Given the description of an element on the screen output the (x, y) to click on. 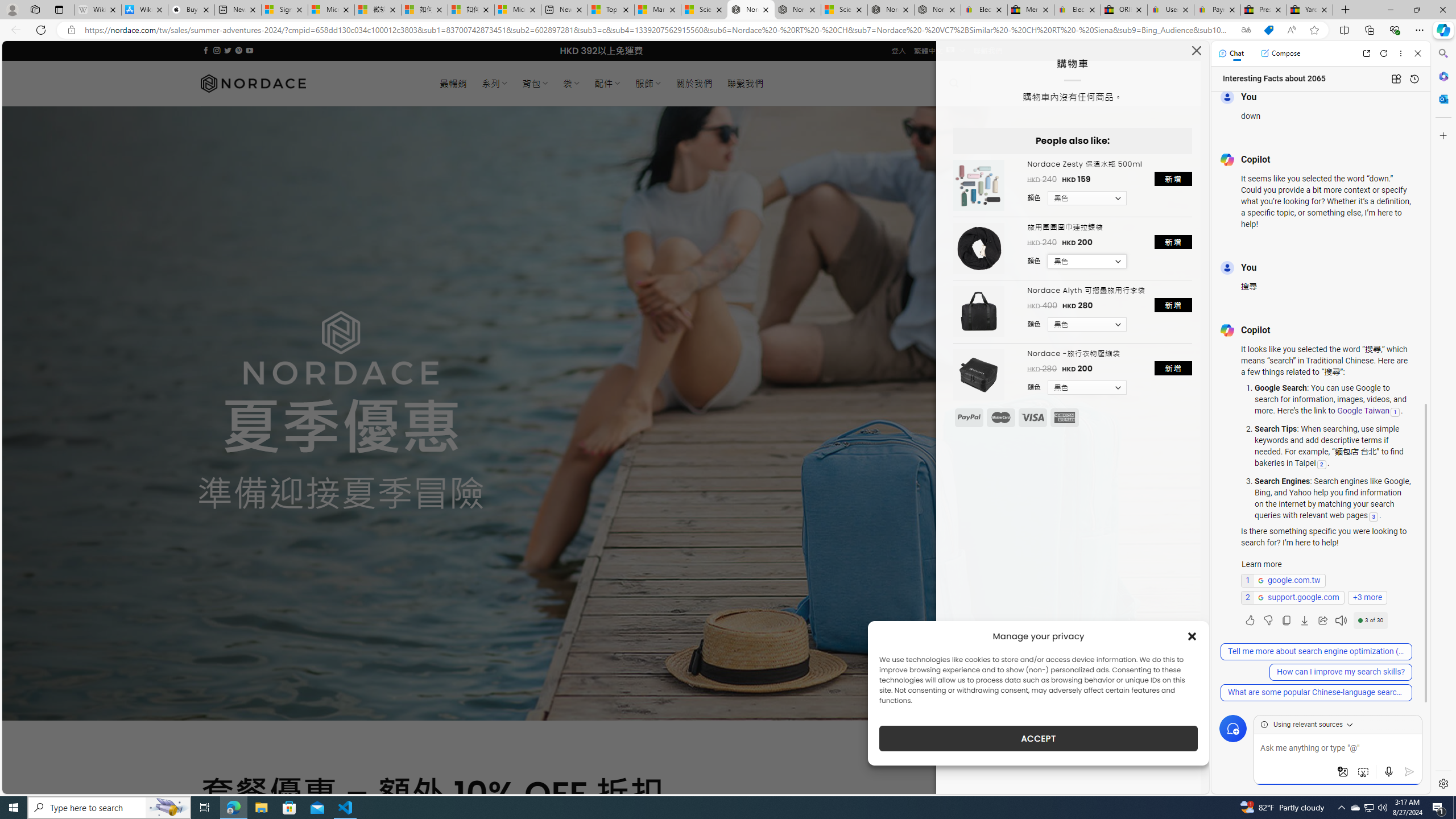
Wikipedia - Sleeping (97, 9)
Show translate options (1245, 29)
Compose (1280, 52)
